Given the description of an element on the screen output the (x, y) to click on. 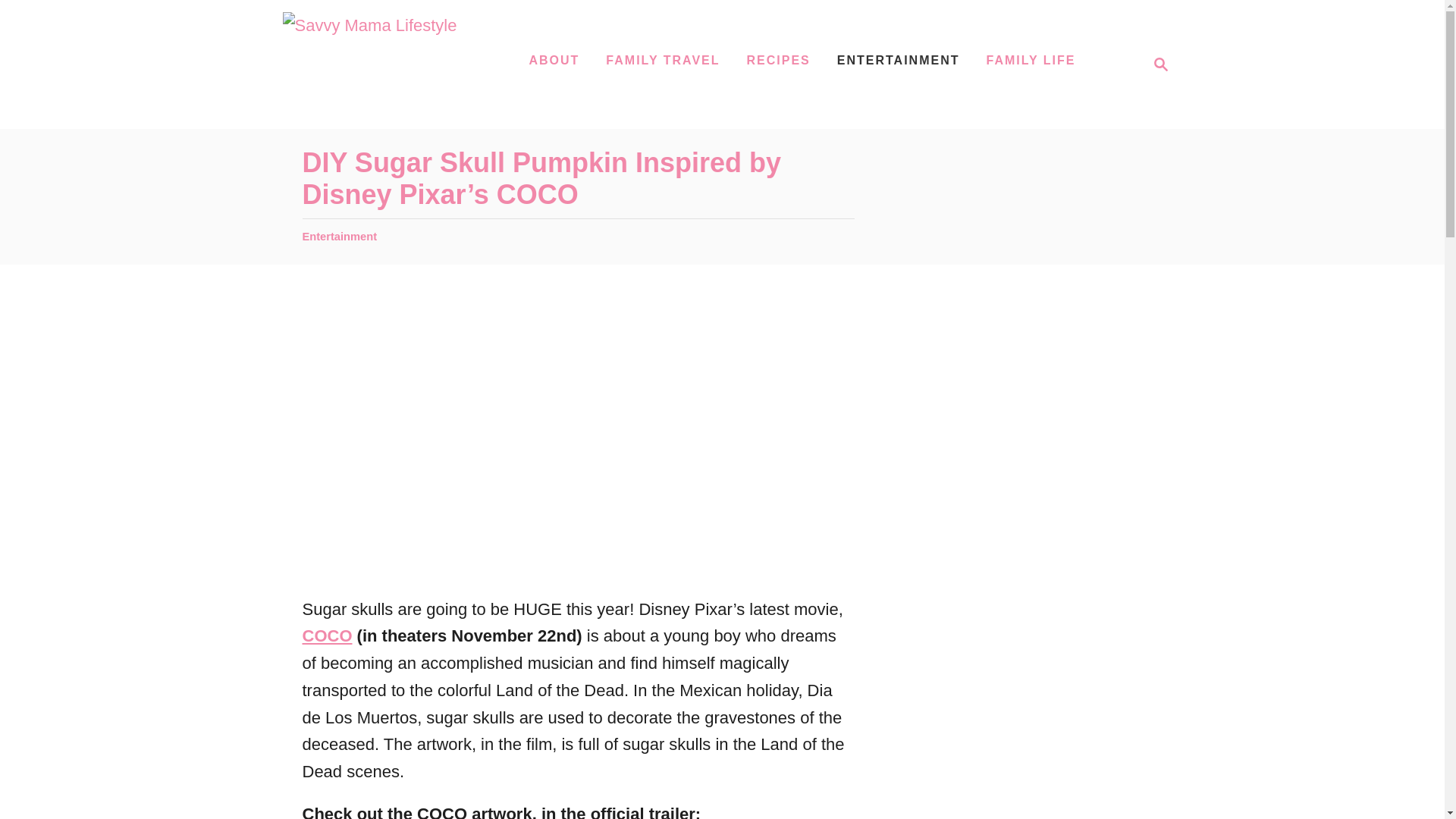
FAMILY TRAVEL (662, 60)
COCO (326, 635)
FAMILY LIFE (1030, 60)
Magnifying Glass (1160, 64)
Savvy Mama Lifestyle (369, 64)
Entertainment (339, 236)
ENTERTAINMENT (1155, 64)
ABOUT (898, 60)
RECIPES (553, 60)
